Given the description of an element on the screen output the (x, y) to click on. 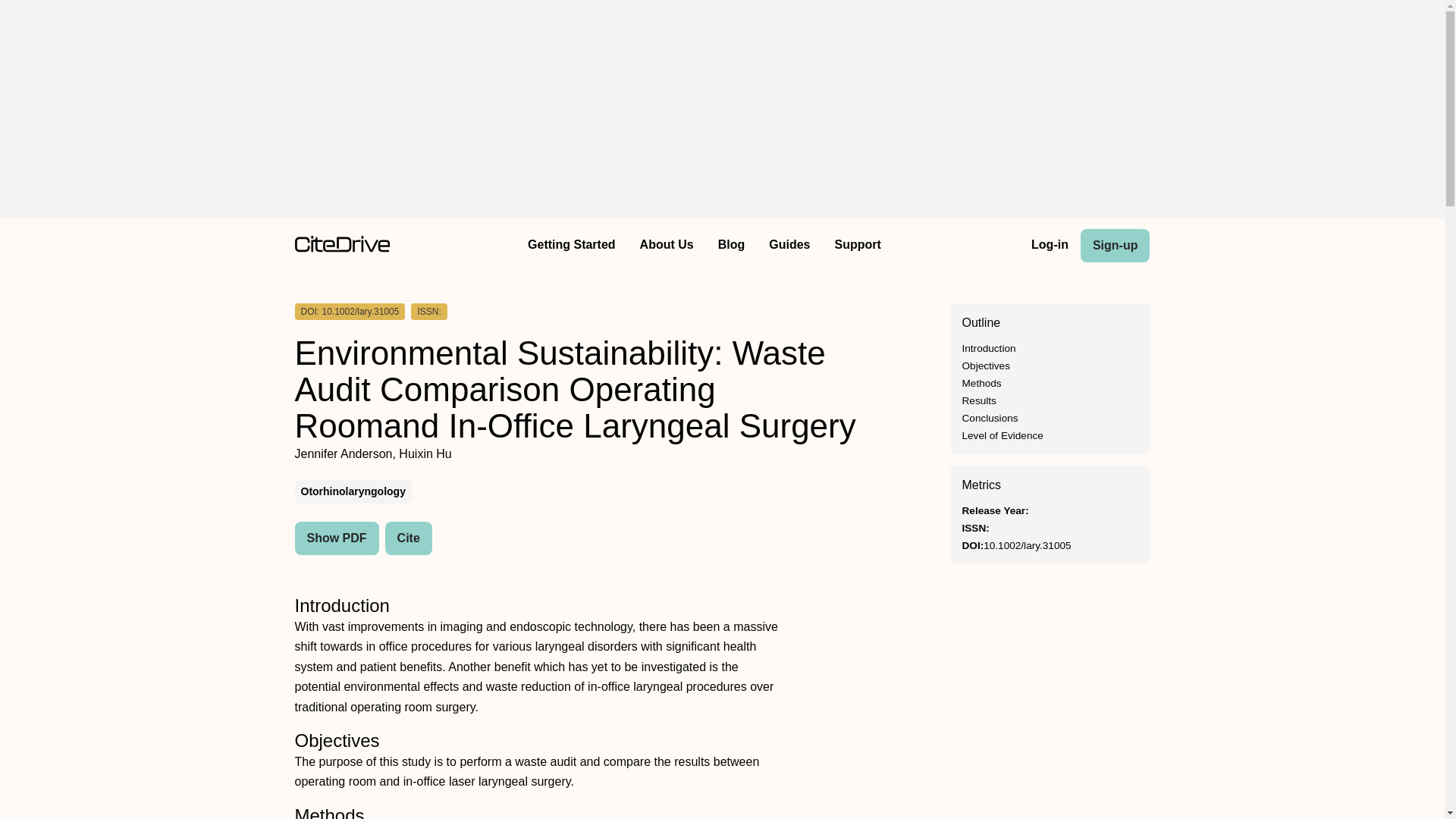
Guides (789, 245)
Support (857, 245)
Methods (980, 383)
Show PDF (336, 538)
Blog (731, 245)
Getting Started (571, 245)
Level of Evidence (1001, 435)
Introduction (987, 348)
Results (977, 400)
Sign-up (1115, 245)
Log-in (1049, 245)
Conclusions (988, 418)
Advertisement (1049, 697)
Objectives (984, 365)
